Given the description of an element on the screen output the (x, y) to click on. 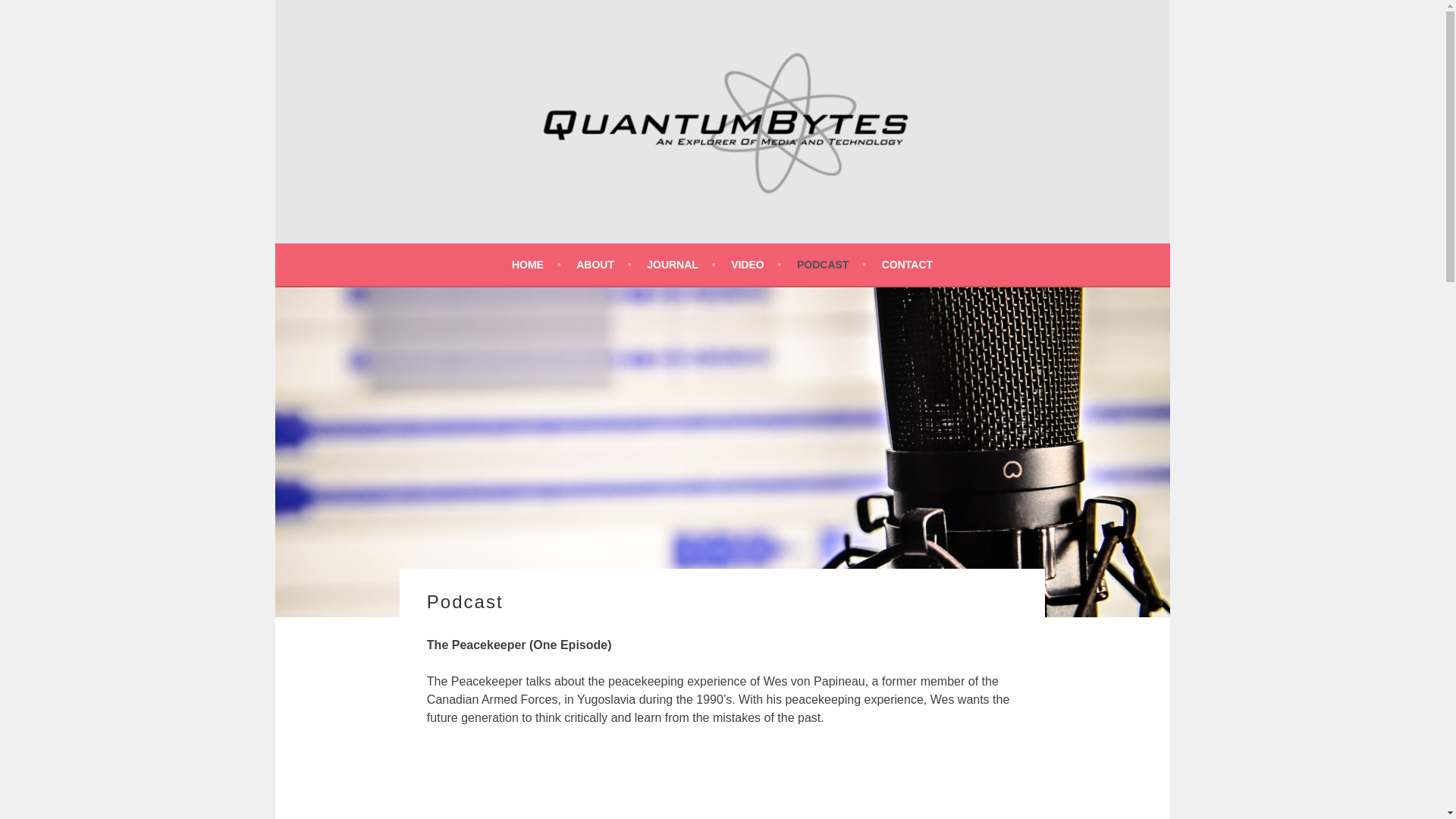
CONTACT (907, 264)
QUANTUMBYTES (438, 251)
PODCAST (831, 264)
JOURNAL (680, 264)
QuantumBytes (438, 251)
ABOUT (603, 264)
HOME (536, 264)
The Peacekeeper by QuantumBytes (721, 782)
VIDEO (755, 264)
